Given the description of an element on the screen output the (x, y) to click on. 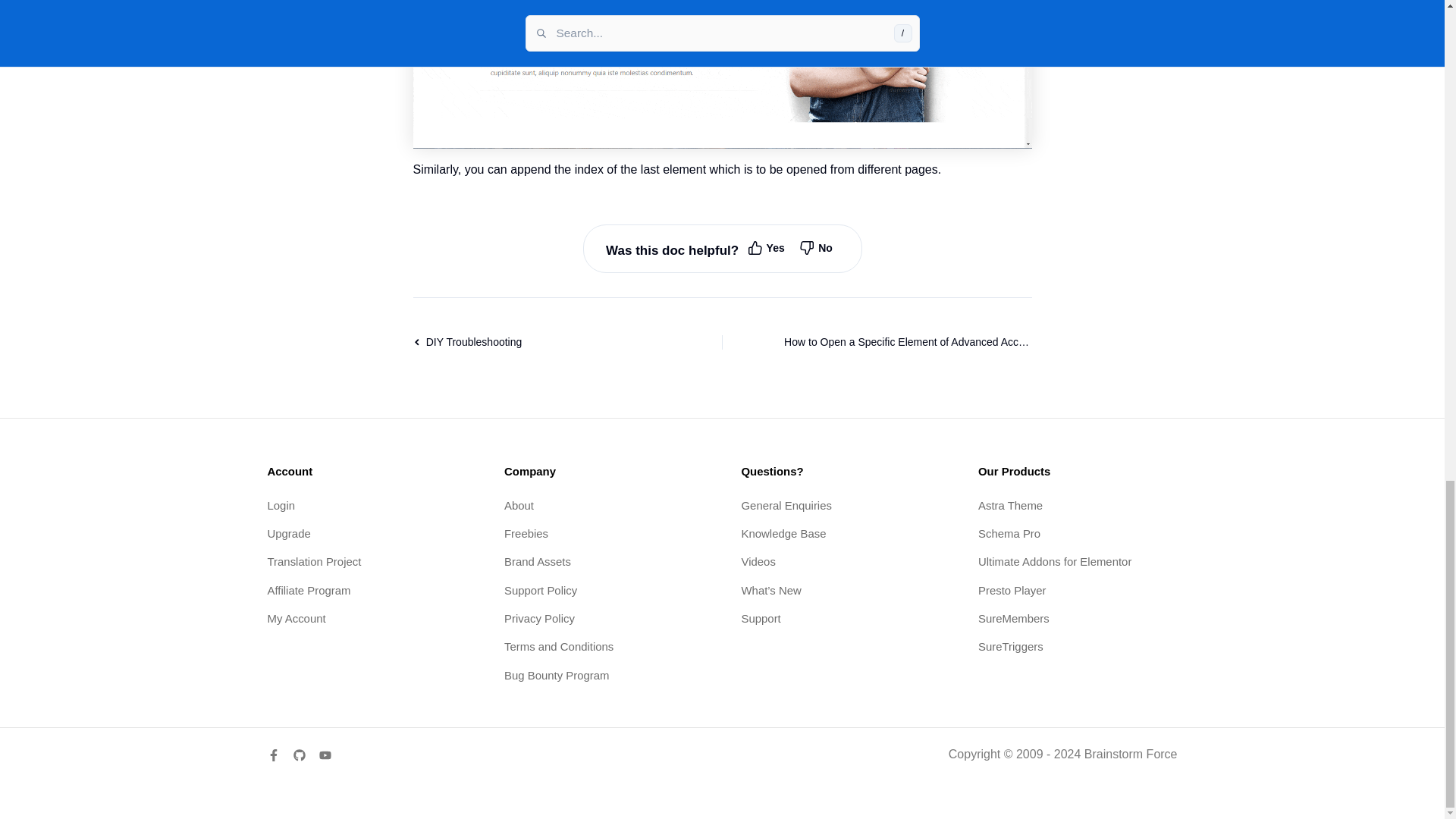
DIY Troubleshooting (535, 342)
